Given the description of an element on the screen output the (x, y) to click on. 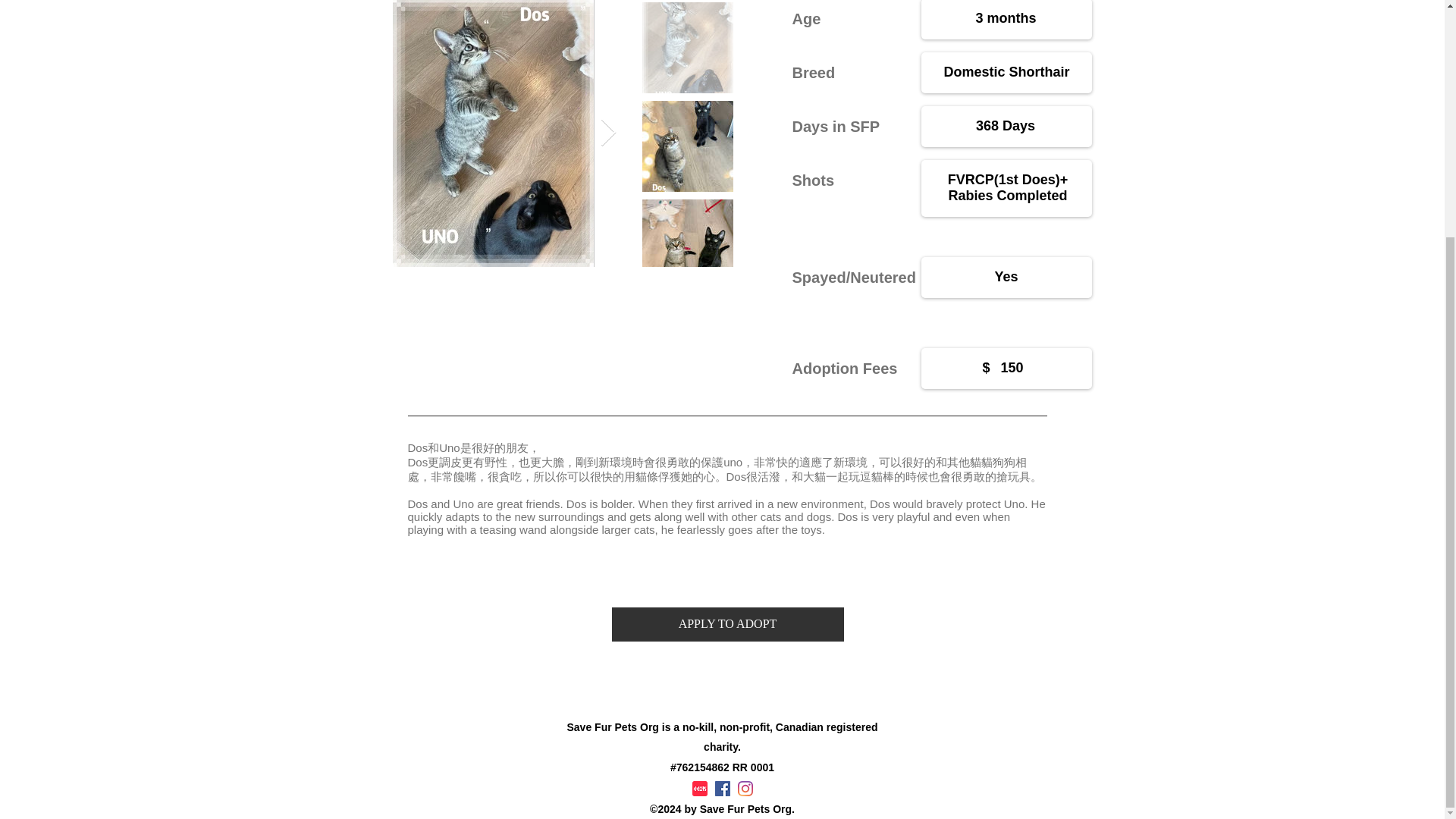
APPLY TO ADOPT (727, 624)
